Given the description of an element on the screen output the (x, y) to click on. 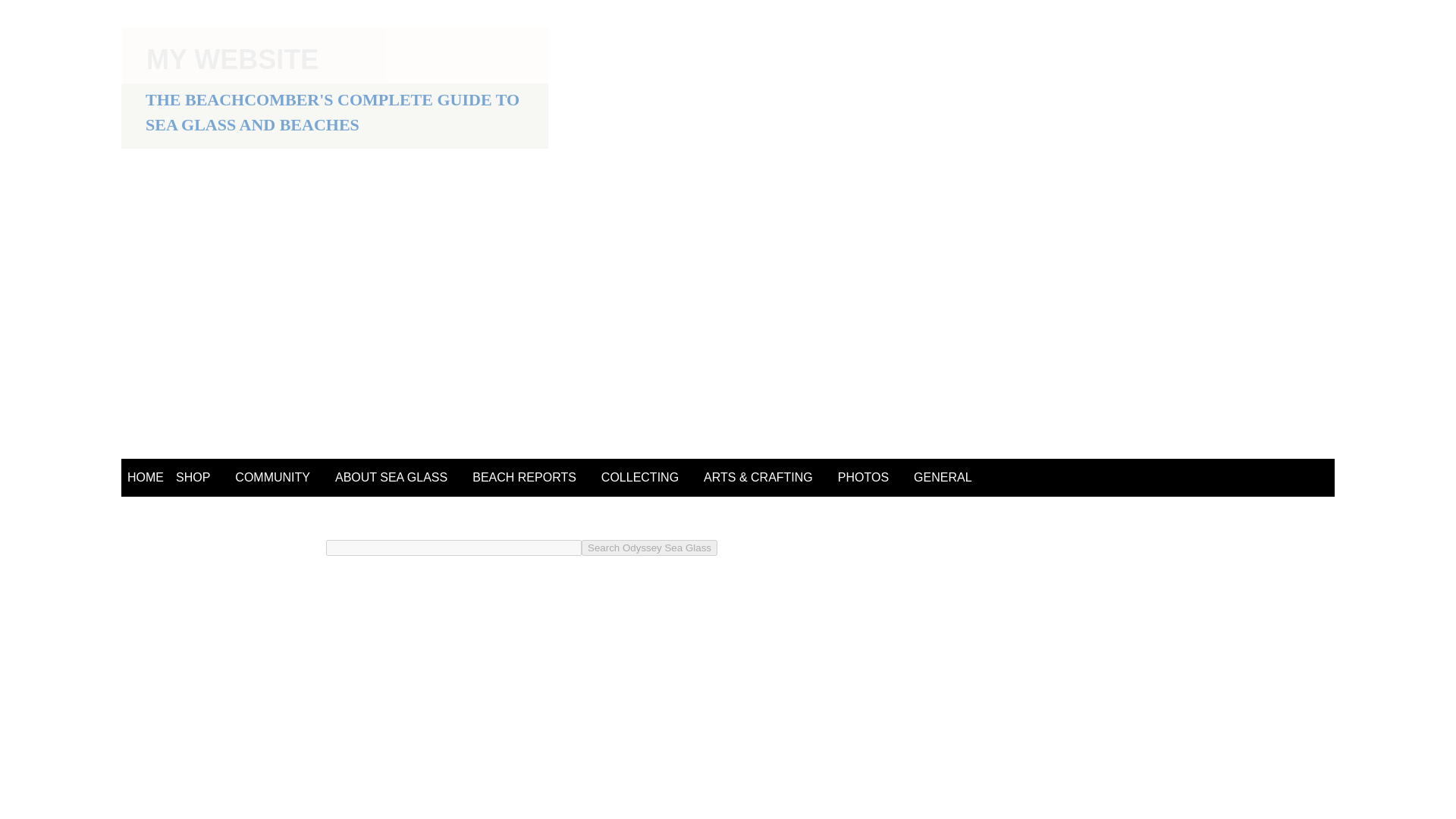
MY WEBSITE (232, 59)
Search Odyssey Sea Glass (648, 547)
HOME (145, 477)
SHOP (192, 477)
